Given the description of an element on the screen output the (x, y) to click on. 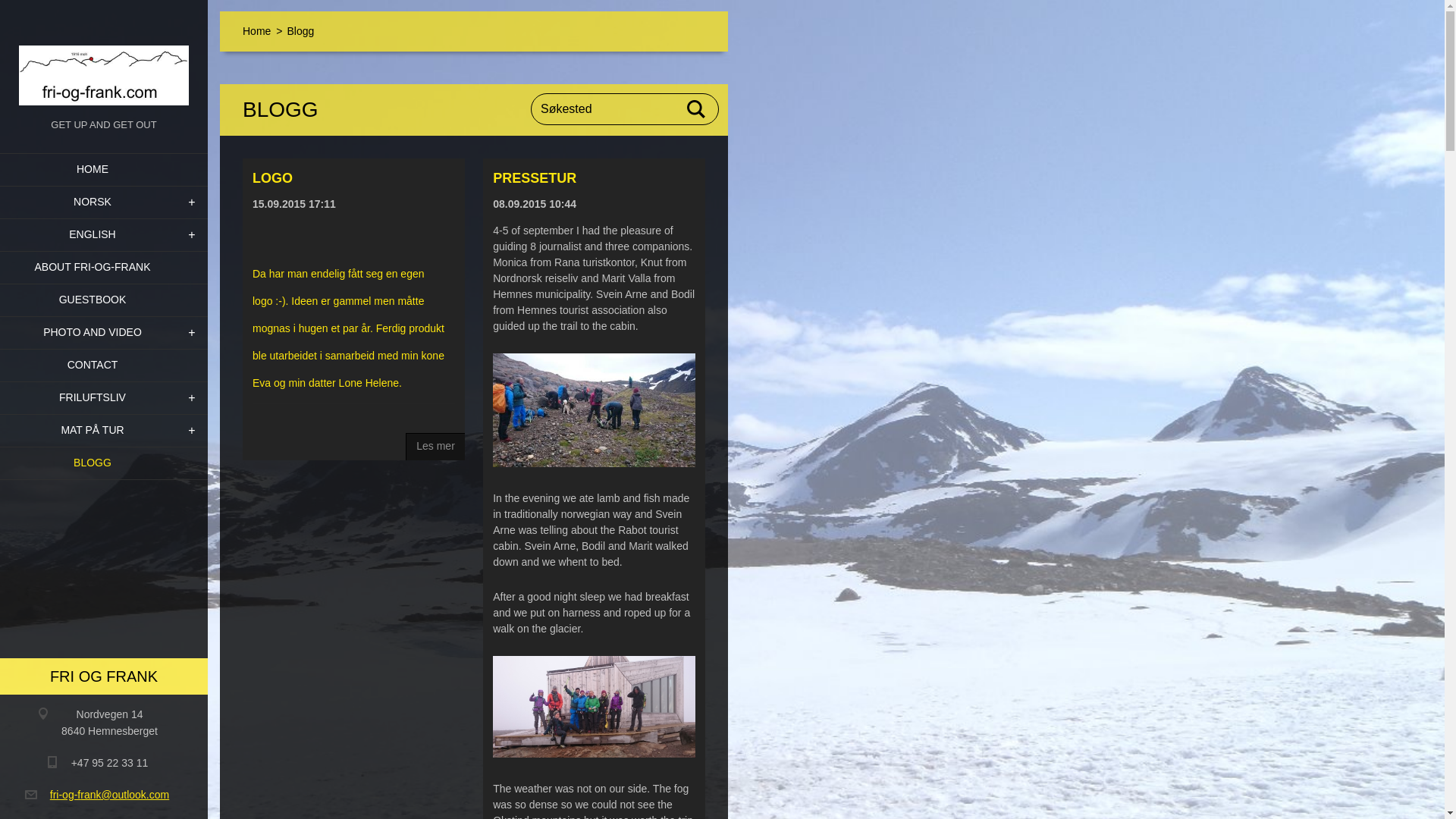
HOME (104, 169)
ABOUT FRI-OG-FRANK (104, 267)
PHOTO AND VIDEO (104, 332)
NORSK (104, 202)
Se hele artikkelen. (435, 446)
CONTACT (104, 365)
FRILUFTSLIV (104, 398)
GUESTBOOK (104, 300)
Ga til forside (104, 57)
ENGLISH (104, 235)
